Given the description of an element on the screen output the (x, y) to click on. 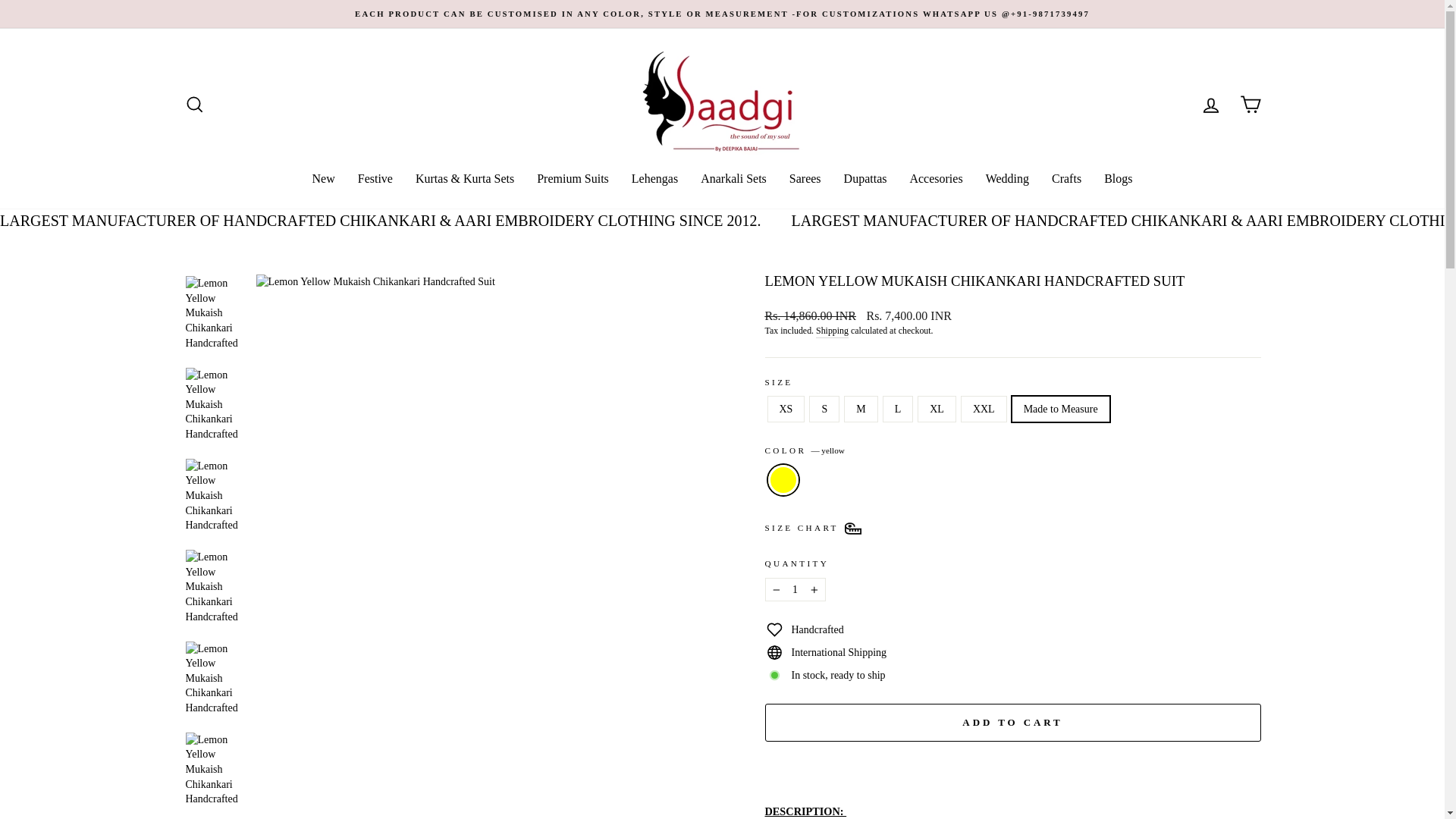
1 (794, 589)
